Given the description of an element on the screen output the (x, y) to click on. 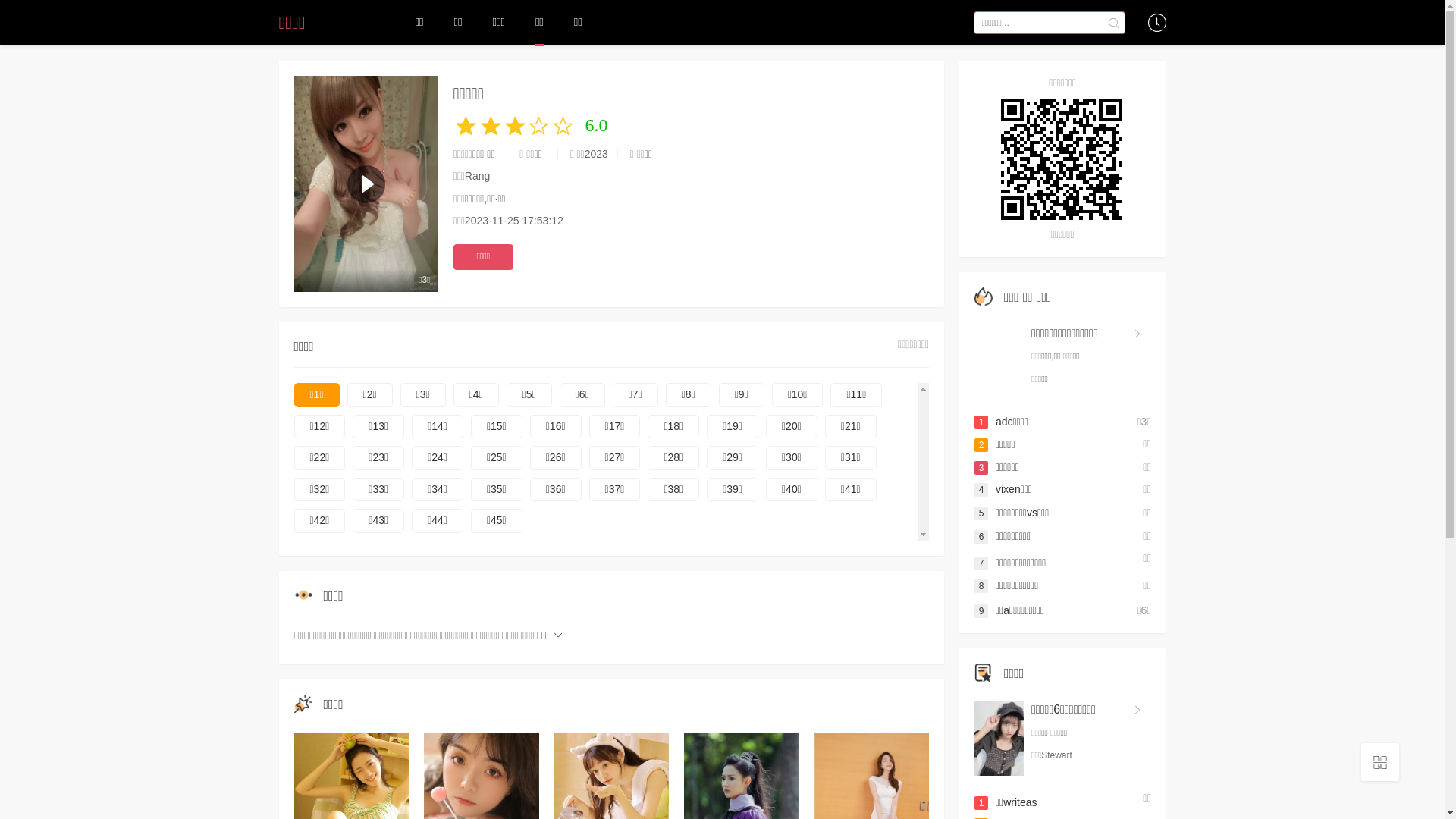
http://21zhuhai.com/xq/1000009.html Element type: hover (1062, 158)
